Given the description of an element on the screen output the (x, y) to click on. 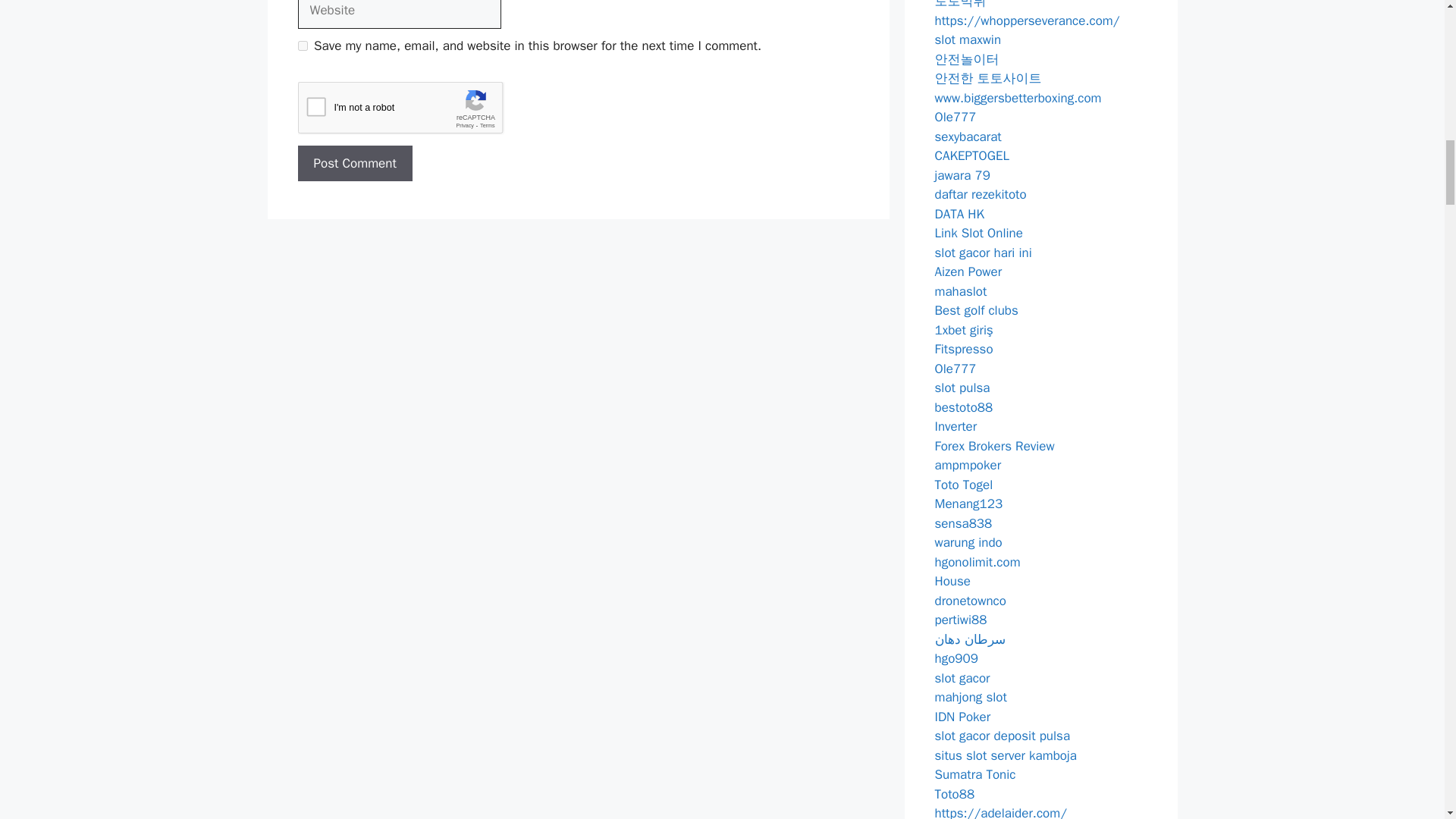
Post Comment (354, 163)
Post Comment (354, 163)
reCAPTCHA (412, 110)
yes (302, 45)
